Given the description of an element on the screen output the (x, y) to click on. 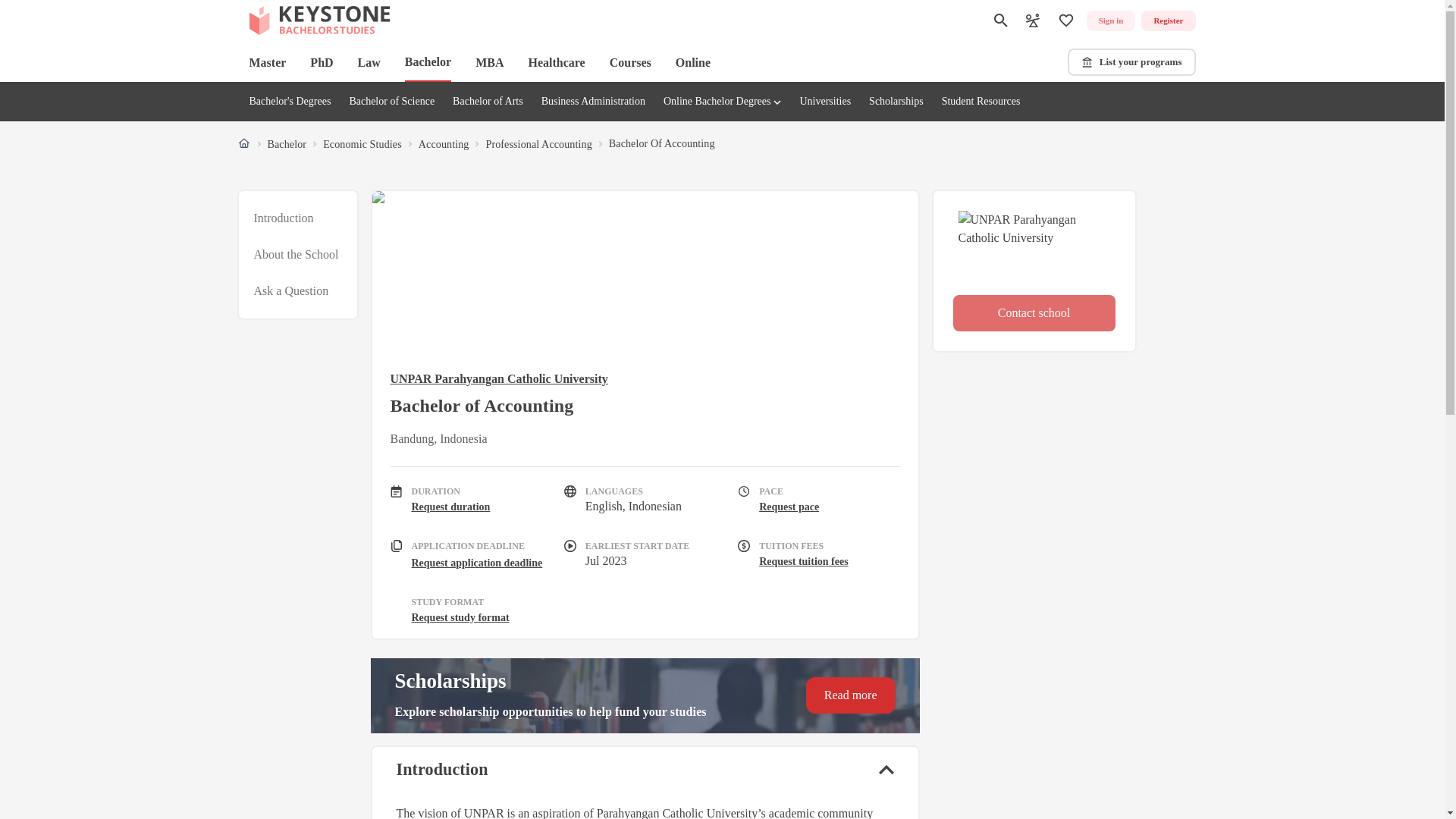
Professional Accounting (537, 144)
Master (266, 63)
Healthcare (296, 254)
Bachelor (556, 63)
List your programs (285, 144)
Online (1131, 62)
Bachelor's Degrees (692, 63)
Read more (289, 101)
Contact school (850, 695)
Sign in (1033, 312)
Ask a Question (1110, 20)
Bachelor of Science (291, 290)
Bachelor (391, 101)
